Given the description of an element on the screen output the (x, y) to click on. 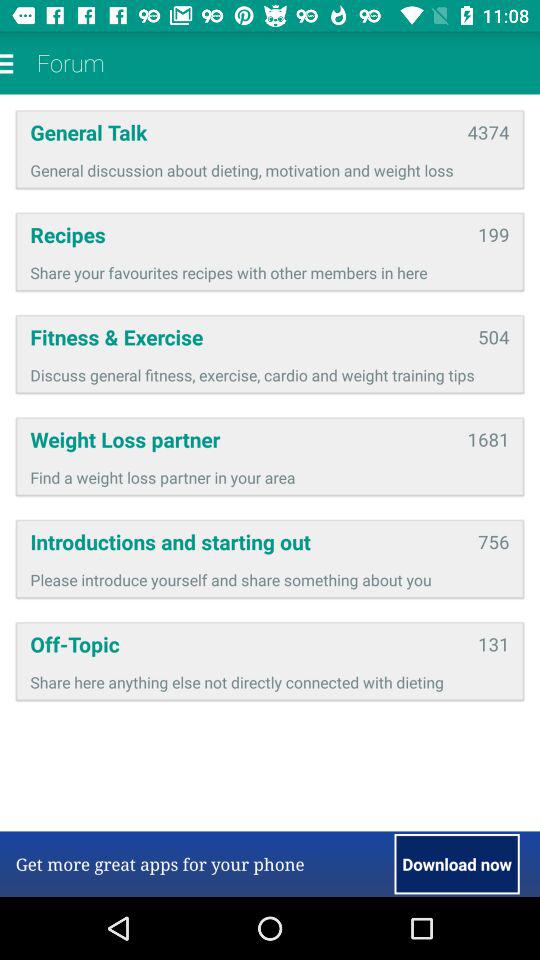
tap general discussion about icon (269, 170)
